Given the description of an element on the screen output the (x, y) to click on. 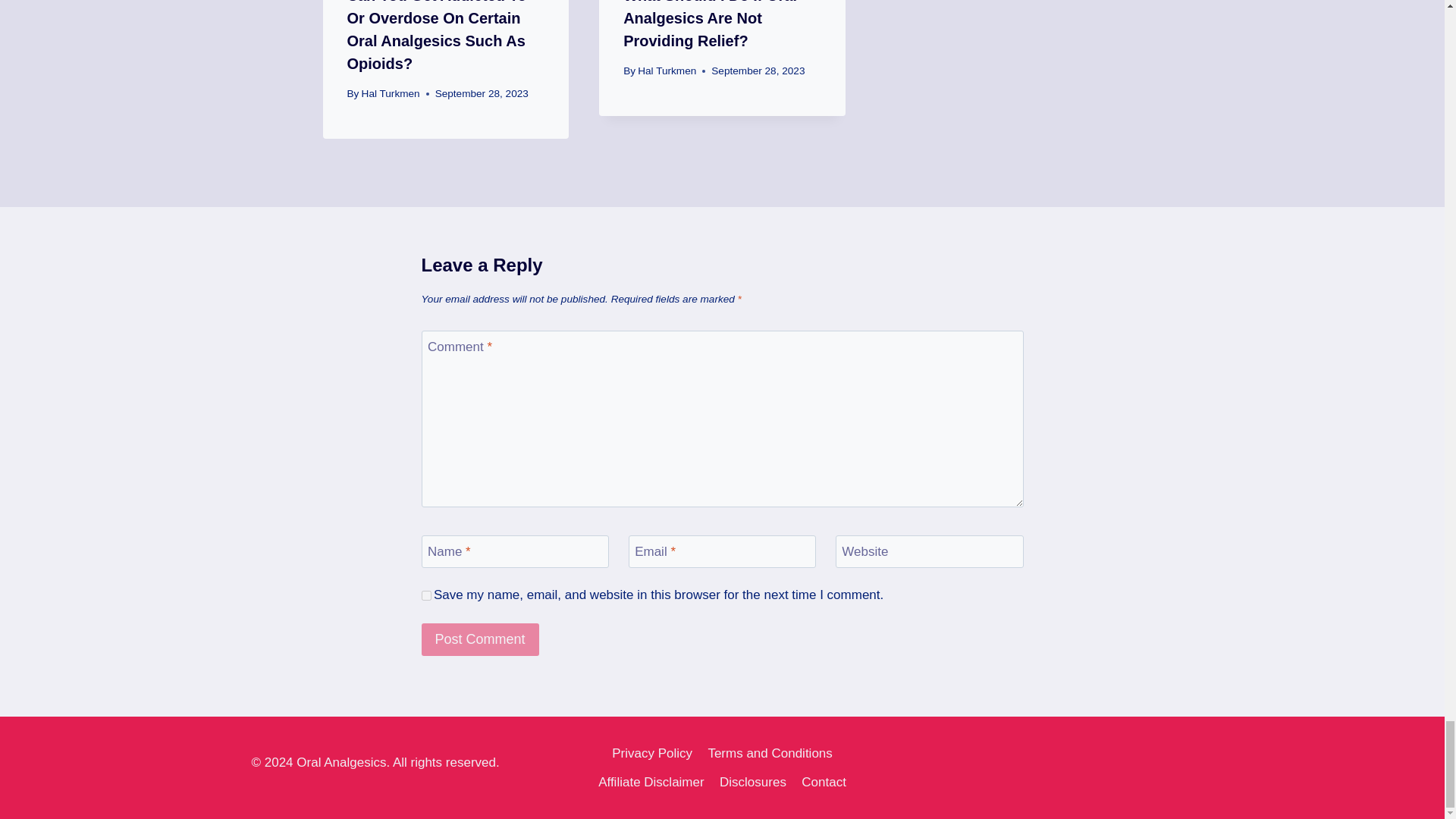
Hal Turkmen (390, 93)
yes (426, 595)
Post Comment (480, 639)
